Given the description of an element on the screen output the (x, y) to click on. 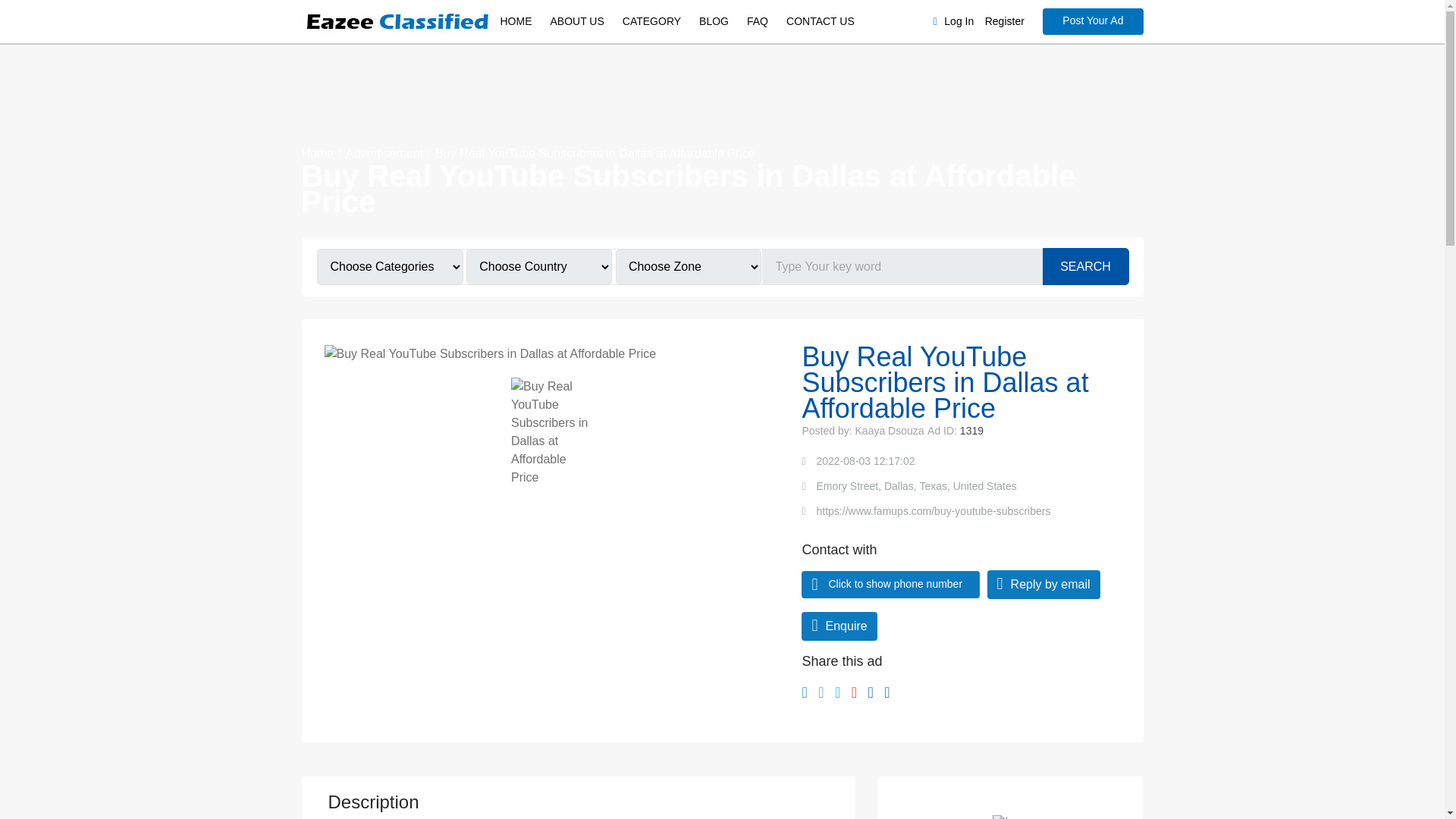
Facebook (804, 692)
CATEGORY (651, 21)
Click to show phone number (895, 583)
Share on Linkedin (821, 692)
Post Your Ad (1092, 21)
Advertisement (384, 153)
Share on Twitter (837, 692)
Register (1005, 21)
FAQ (757, 21)
Home (317, 153)
Eazee Classified (396, 21)
Reply by email (1043, 584)
Enquire (839, 625)
CONTACT US (820, 21)
HOME (516, 21)
